Given the description of an element on the screen output the (x, y) to click on. 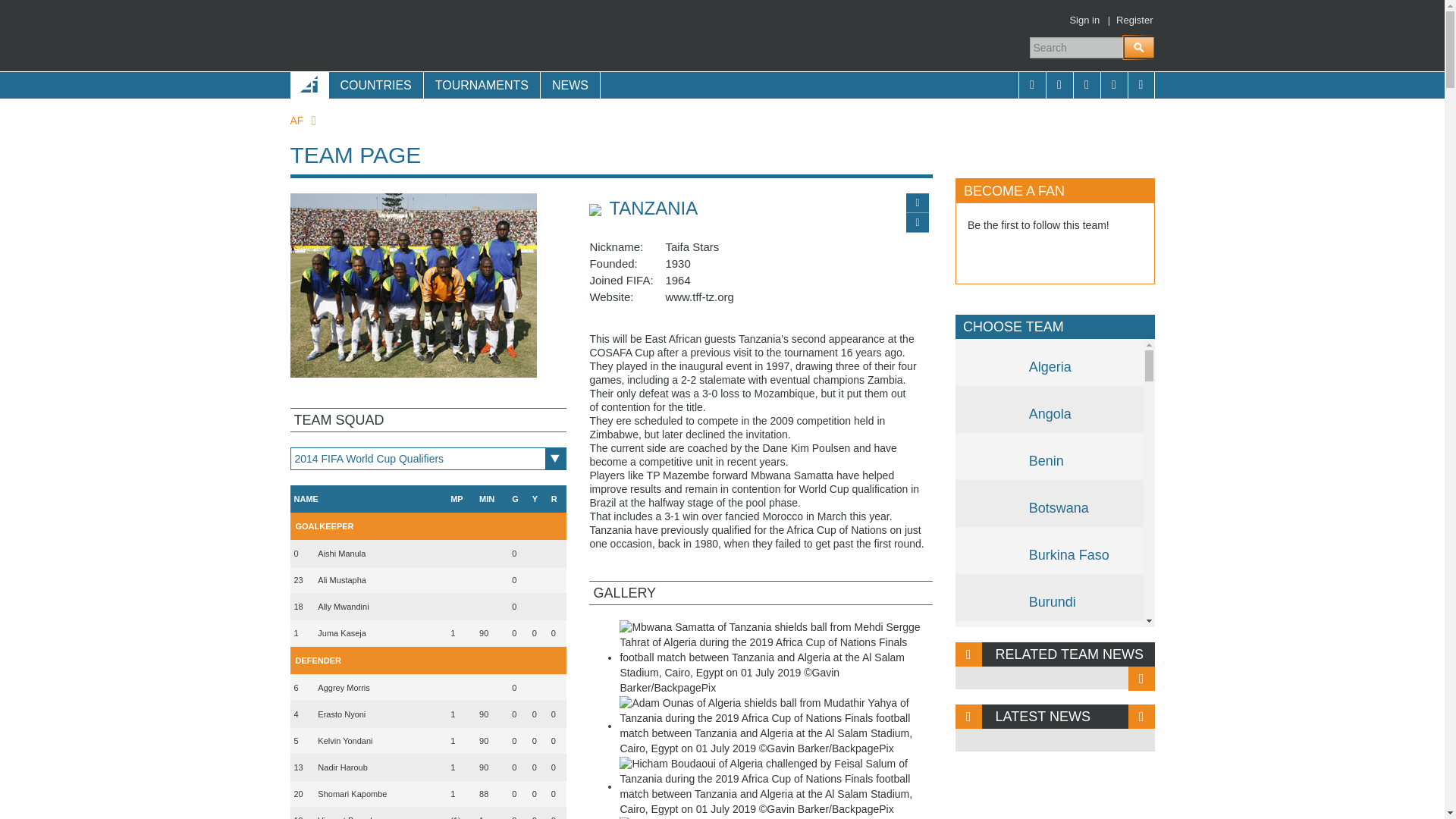
Register (1134, 19)
NEWS (569, 85)
Sign in (1083, 19)
TOURNAMENTS (481, 85)
COUNTRIES (374, 85)
